Given the description of an element on the screen output the (x, y) to click on. 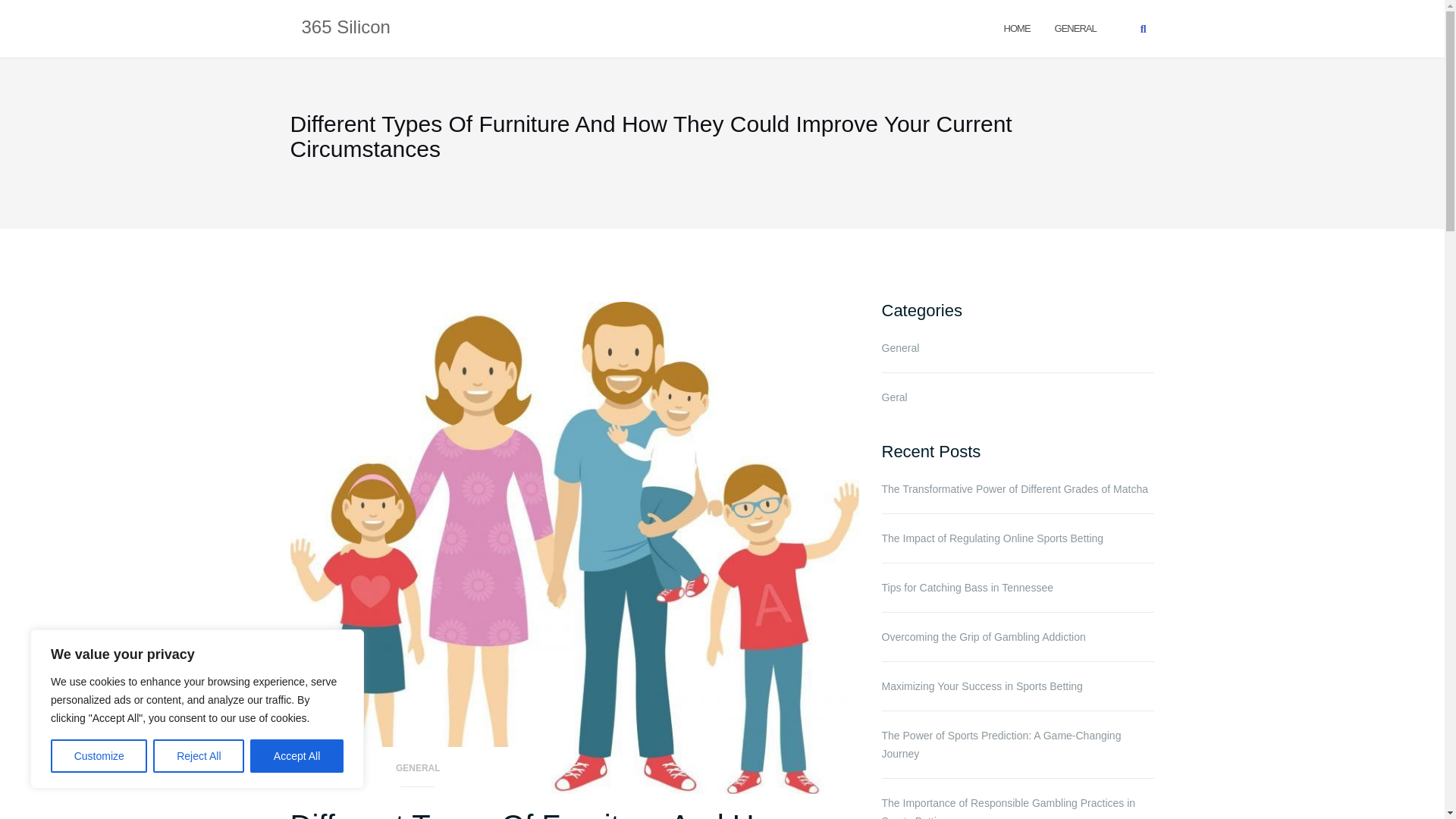
Accept All (296, 756)
HOME (1017, 28)
Reject All (198, 756)
Customize (98, 756)
Home (1017, 28)
General (1075, 28)
GENERAL (1075, 28)
365 Silicon (345, 28)
GENERAL (417, 773)
